Given the description of an element on the screen output the (x, y) to click on. 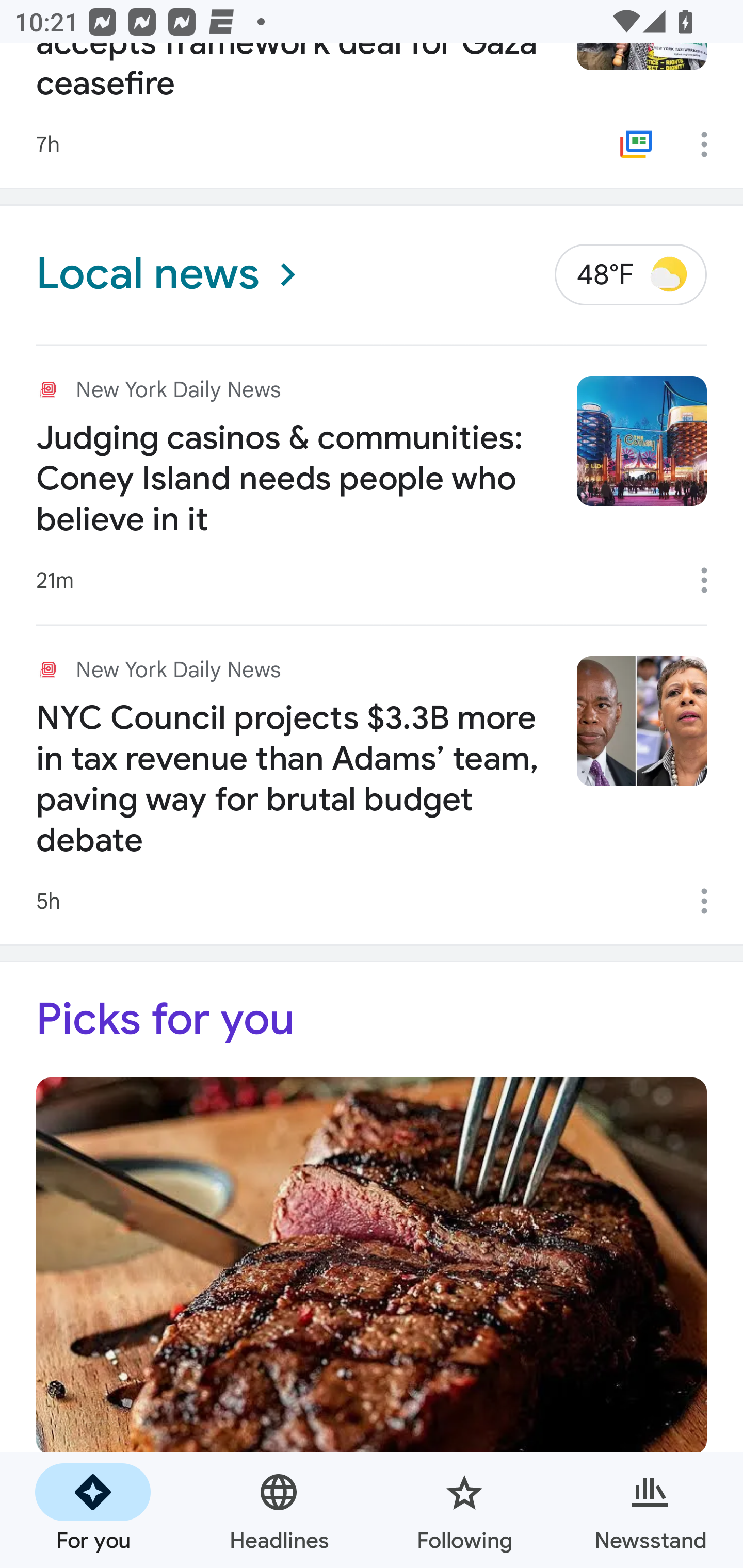
More options (711, 144)
More options (711, 580)
More options (711, 900)
For you (92, 1509)
Headlines (278, 1509)
Following (464, 1509)
Newsstand (650, 1509)
